Given the description of an element on the screen output the (x, y) to click on. 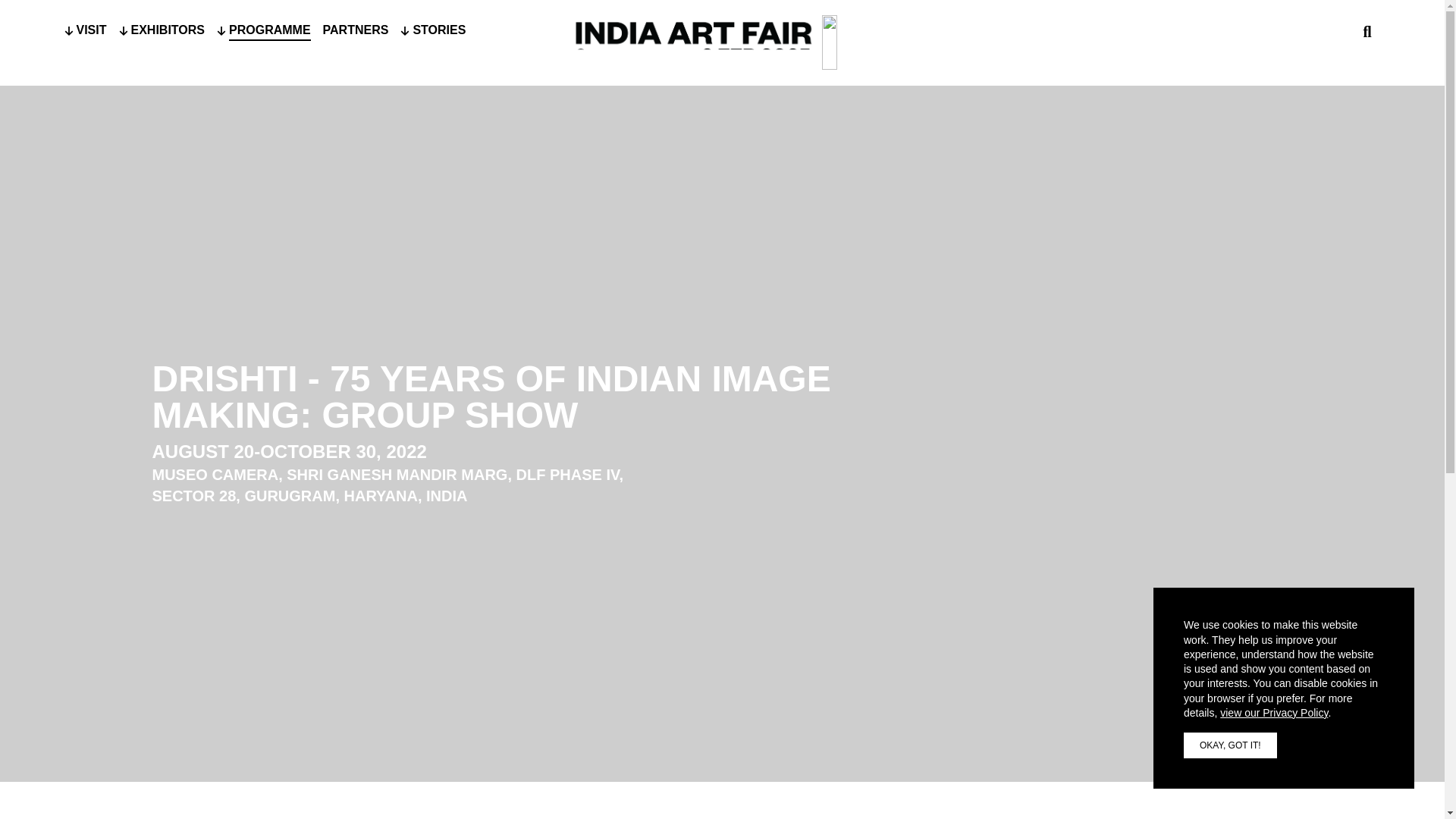
PROGRAMME (269, 30)
PARTNERS (355, 30)
EXHIBITORS (168, 30)
VISIT (90, 30)
Open Search Form (1366, 31)
STORIES (438, 30)
